Given the description of an element on the screen output the (x, y) to click on. 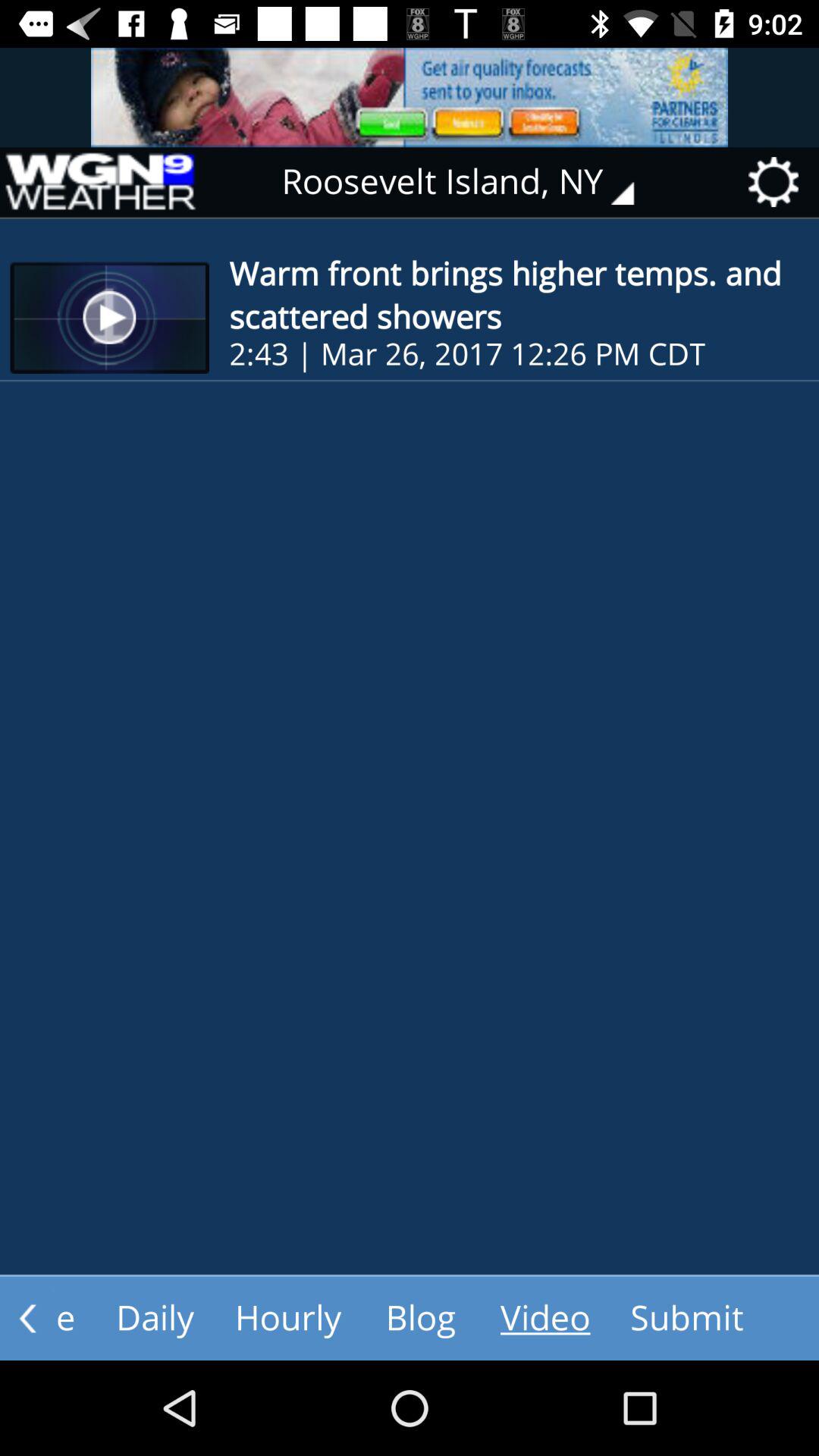
go to advertisement website (409, 97)
